Given the description of an element on the screen output the (x, y) to click on. 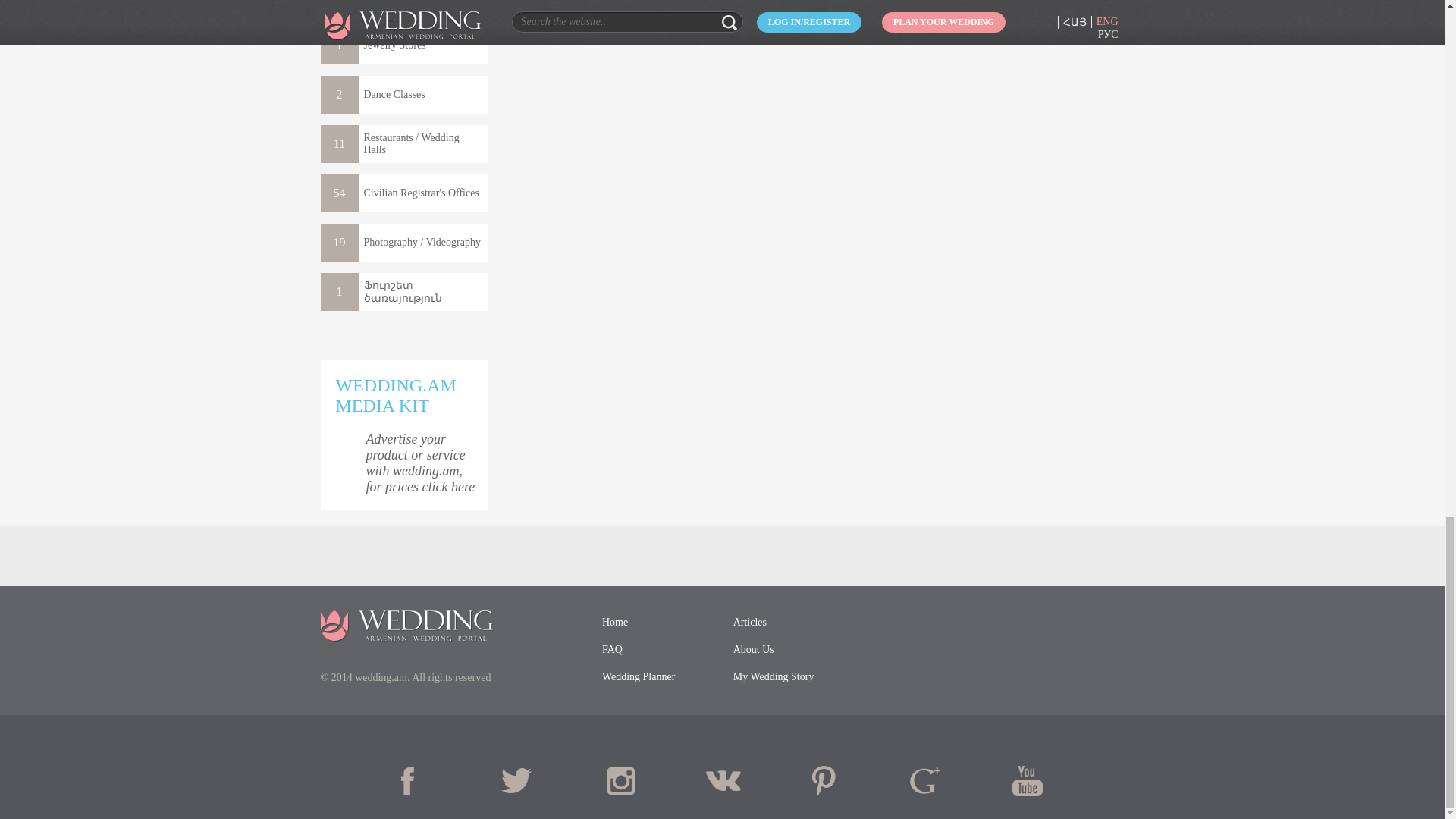
Facebook (416, 780)
Instagram (620, 780)
Twitter (518, 780)
